Given the description of an element on the screen output the (x, y) to click on. 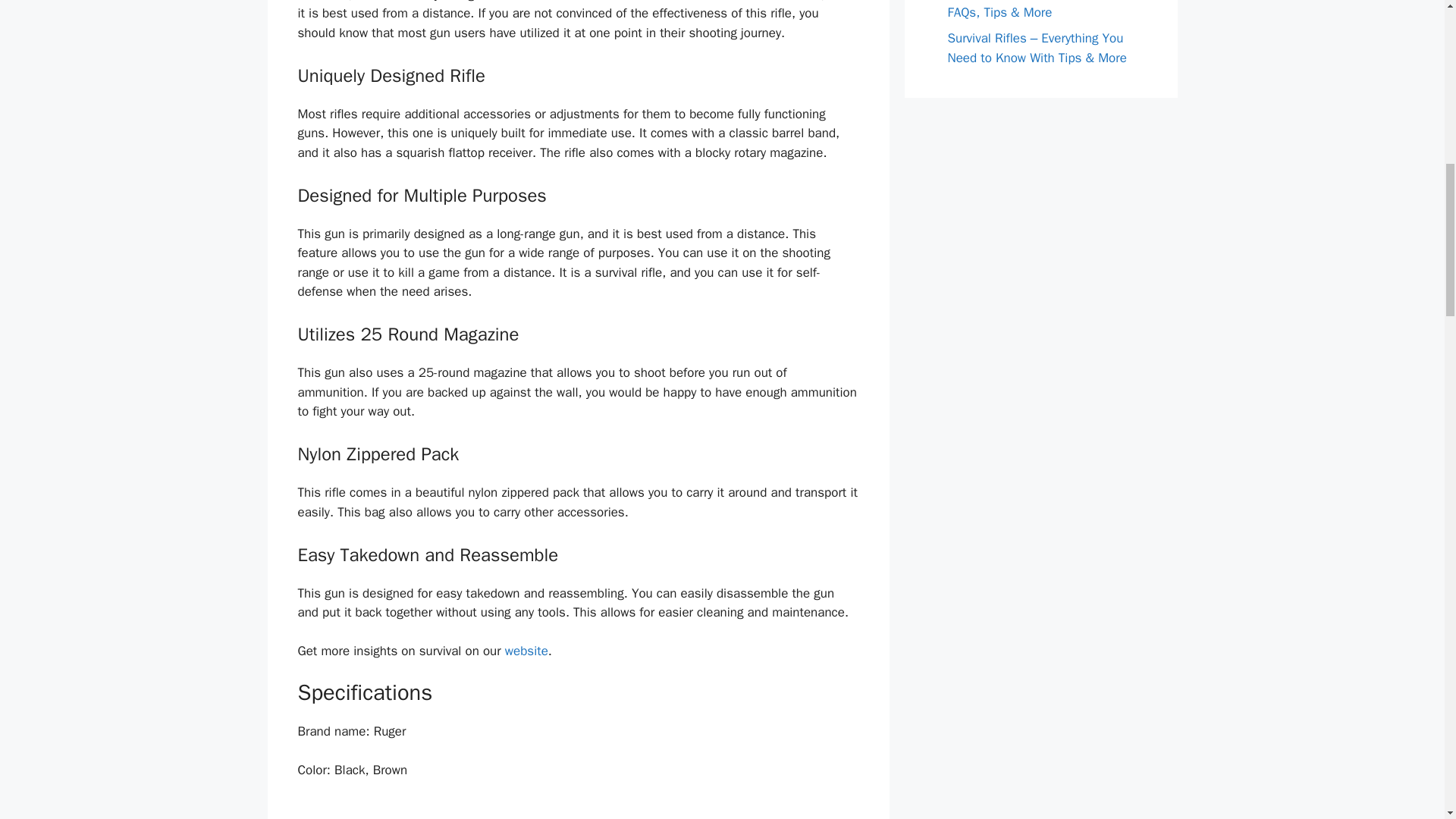
website (526, 650)
